Given the description of an element on the screen output the (x, y) to click on. 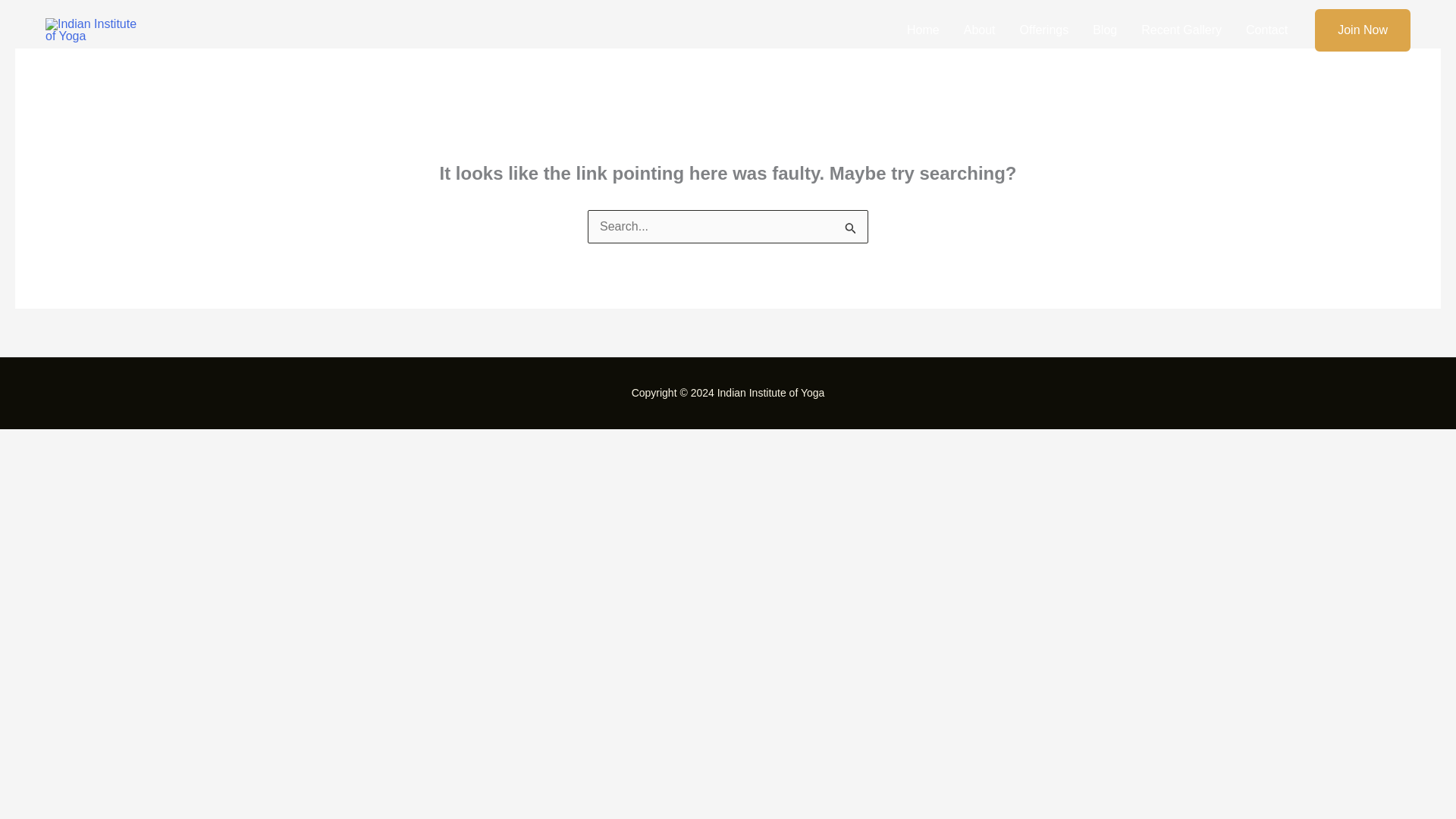
Join Now (1362, 30)
Recent Gallery (1181, 30)
Home (923, 30)
Offerings (1044, 30)
Contact (1266, 30)
About (979, 30)
